Given the description of an element on the screen output the (x, y) to click on. 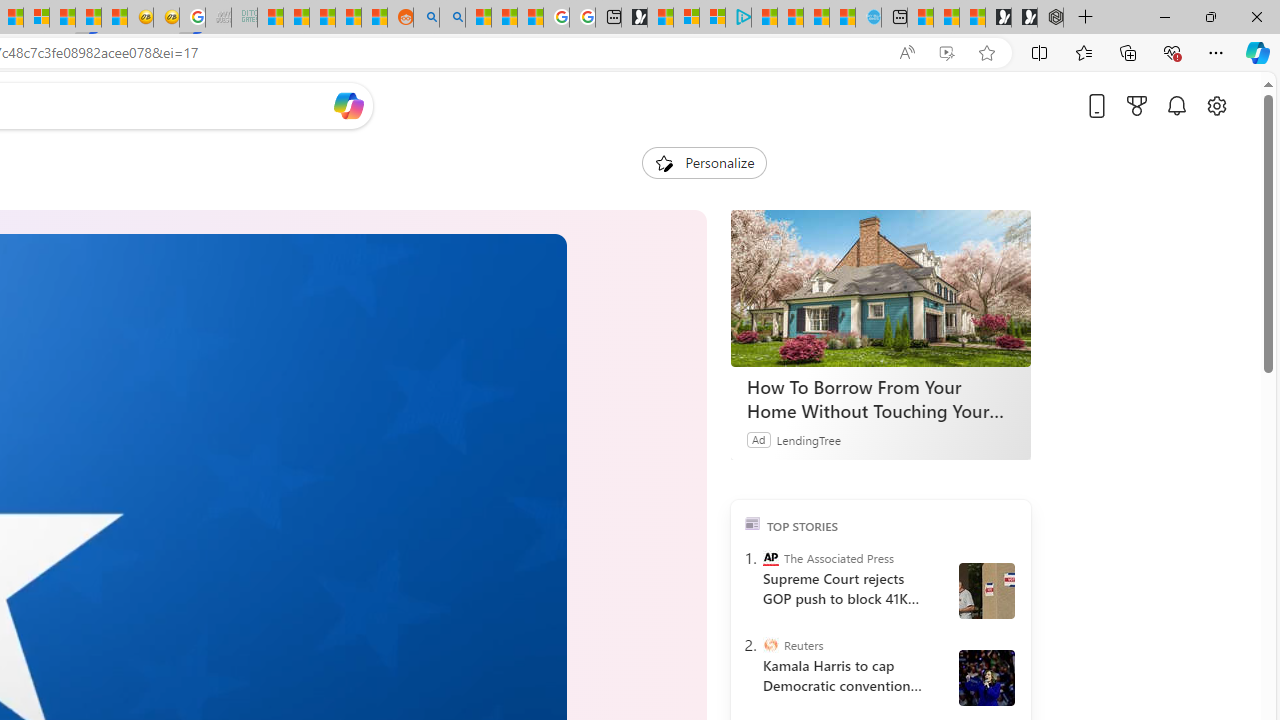
Student Loan Update: Forgiveness Program Ends This Month (347, 17)
 Harris and Walz campaign in Wisconsin (986, 678)
